Given the description of an element on the screen output the (x, y) to click on. 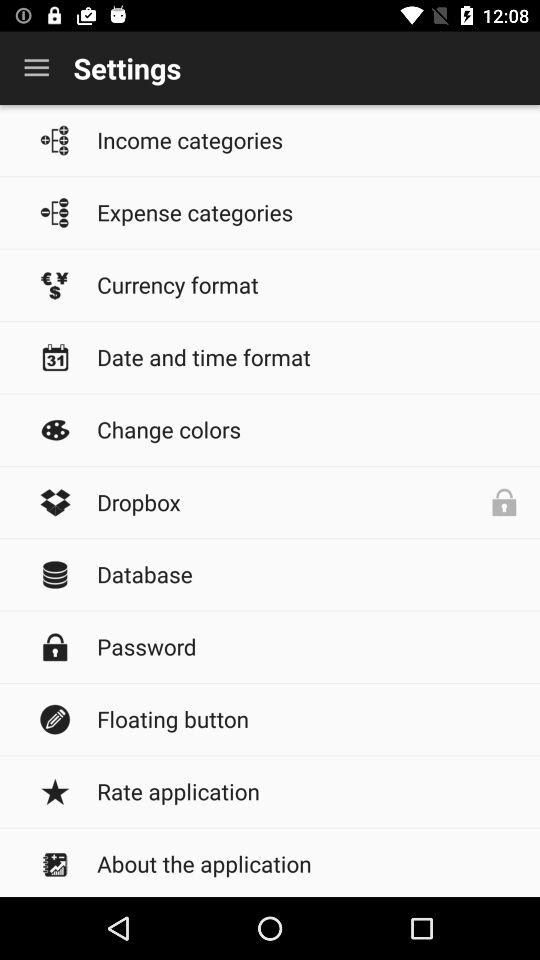
jump to currency format item (308, 284)
